Given the description of an element on the screen output the (x, y) to click on. 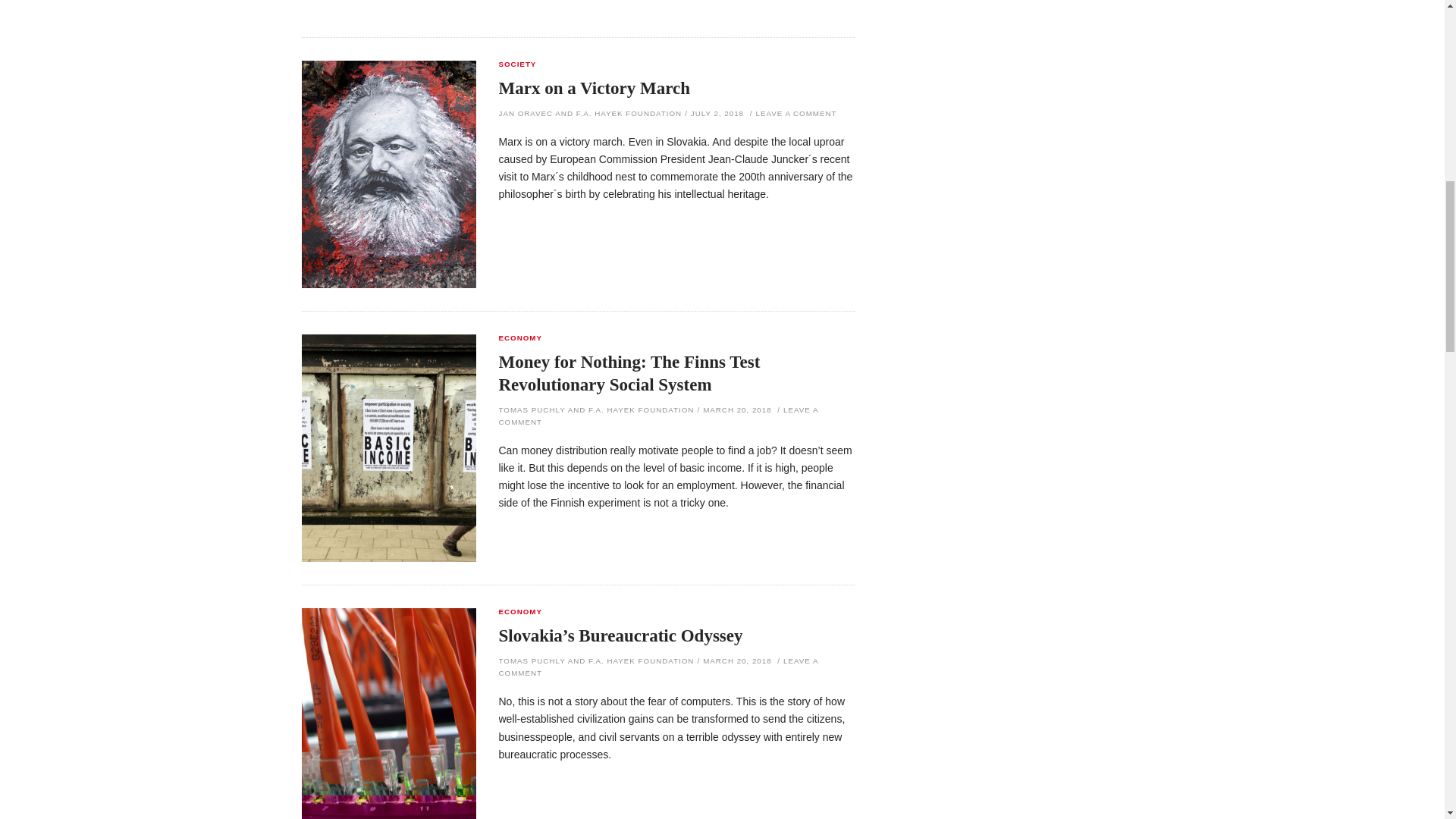
Posts by Tomas Puchly (532, 660)
Posts by Jan Oravec (526, 112)
Posts by F.A. Hayek Foundation (641, 660)
Posts by F.A. Hayek Foundation (628, 112)
Posts by Tomas Puchly (532, 409)
Posts by F.A. Hayek Foundation (641, 409)
